Given the description of an element on the screen output the (x, y) to click on. 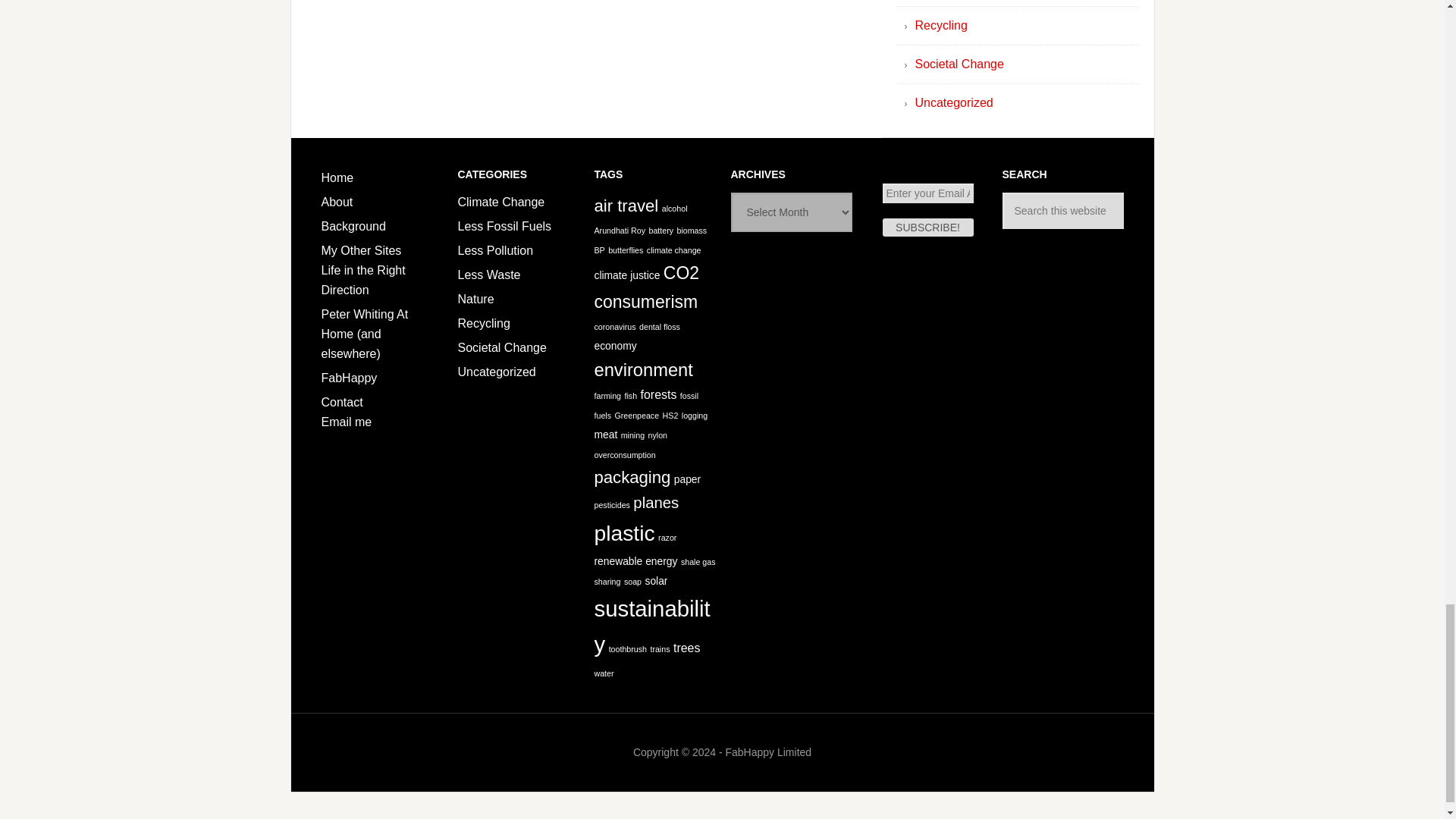
Subscribe! (928, 227)
Enter your Email Address (928, 193)
